Given the description of an element on the screen output the (x, y) to click on. 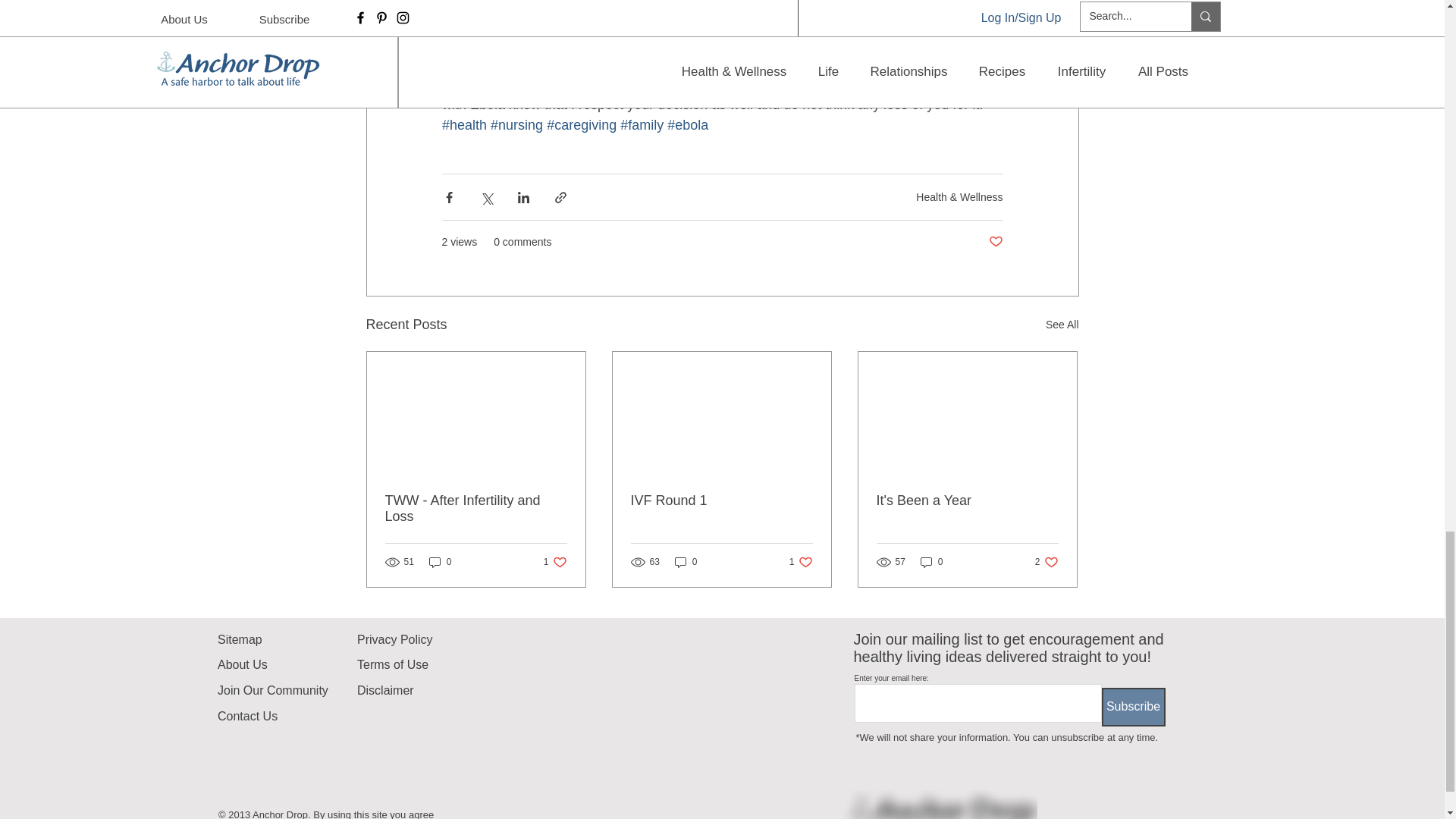
Anchor Drop Home (938, 804)
Post not marked as liked (995, 242)
TWW - After Infertility and Loss (476, 508)
See All (800, 562)
0 (555, 562)
0 (1061, 324)
IVF Round 1 (685, 562)
